Given the description of an element on the screen output the (x, y) to click on. 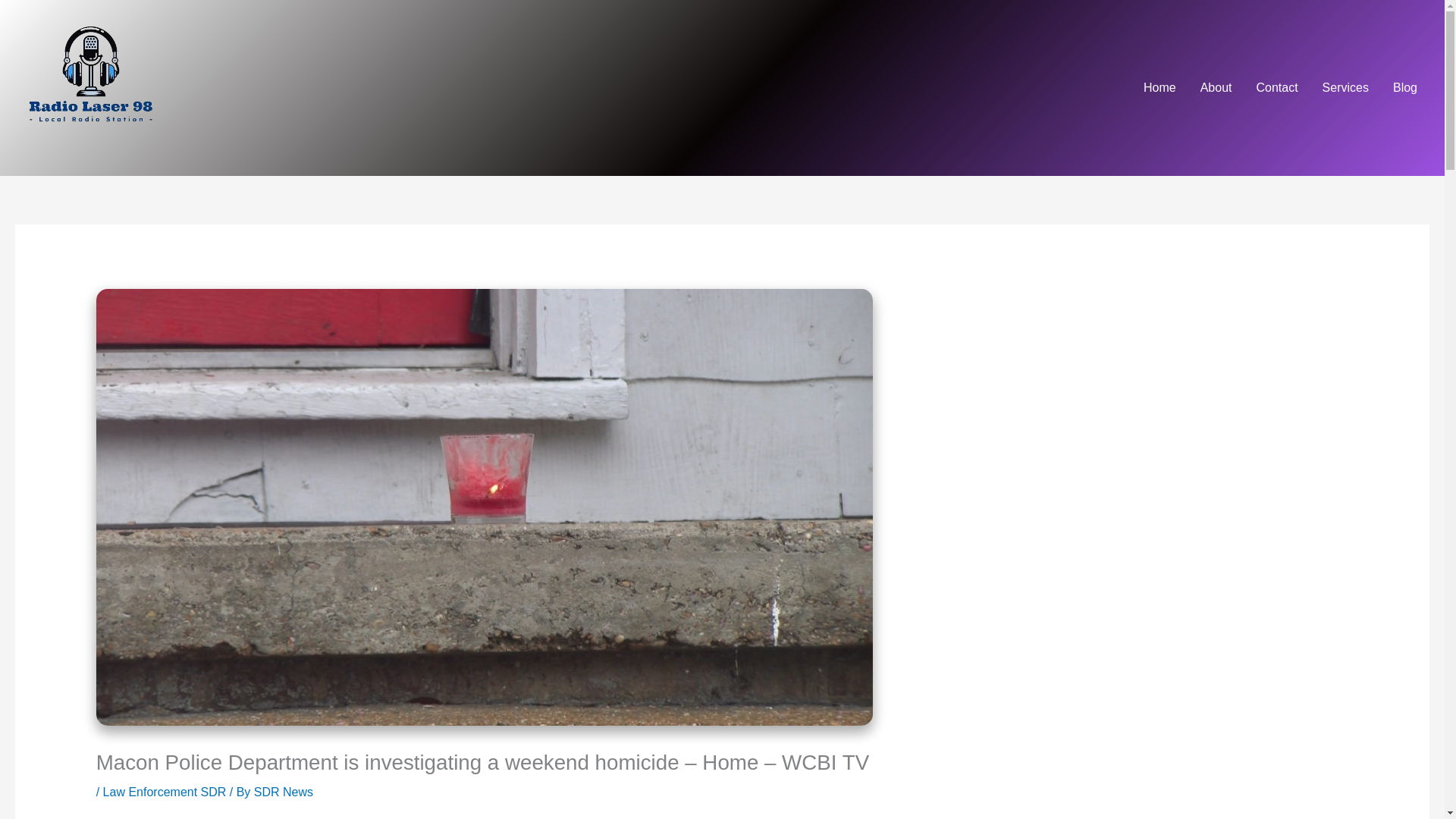
Law Enforcement SDR (165, 791)
View all posts by SDR News (283, 791)
About (1216, 87)
Blog (1404, 87)
Services (1345, 87)
SDR News (283, 791)
Contact (1275, 87)
Home (1159, 87)
